Given the description of an element on the screen output the (x, y) to click on. 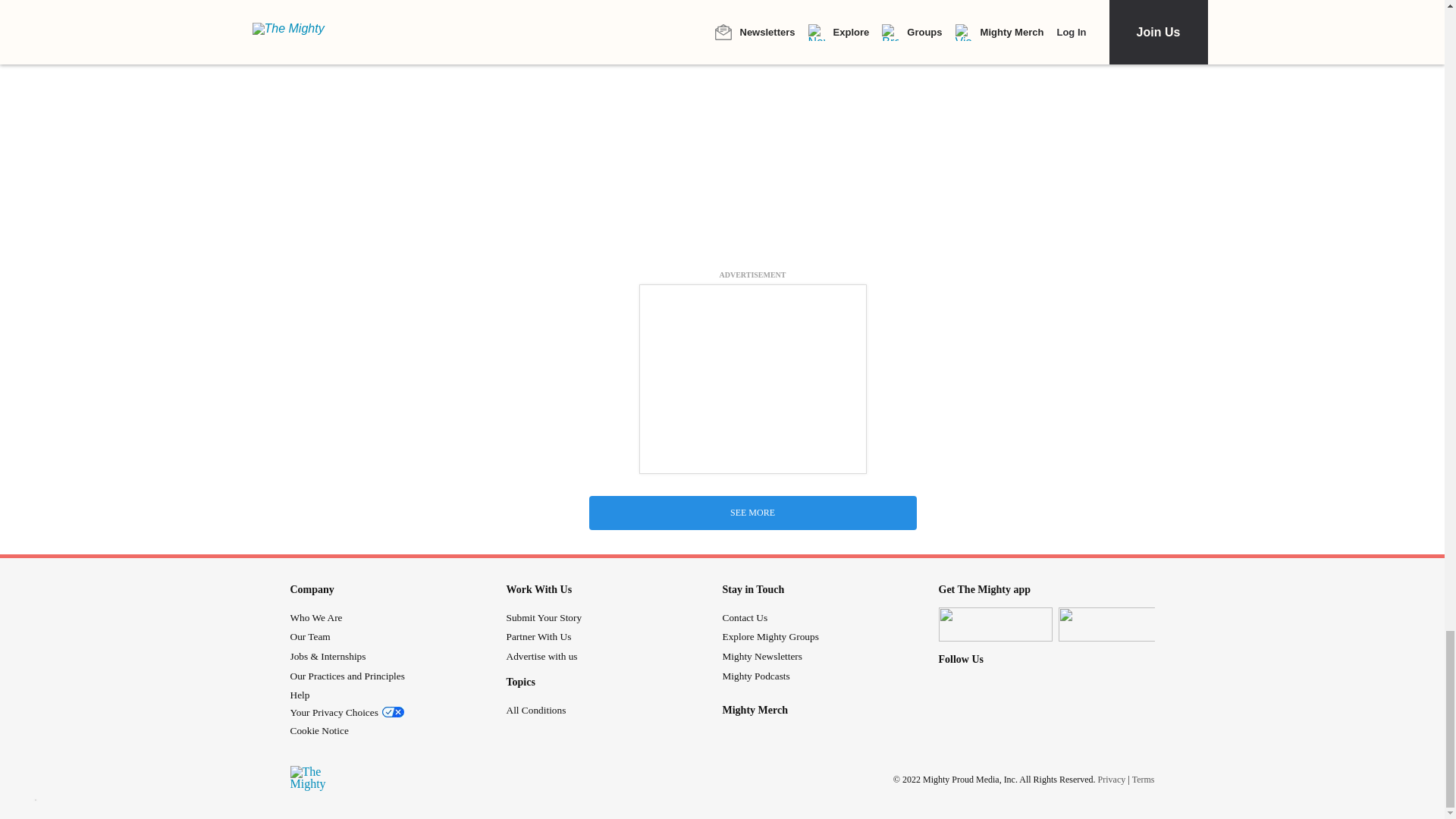
SEE MORE (751, 512)
Who We Are (315, 617)
Our Team (309, 636)
